Given the description of an element on the screen output the (x, y) to click on. 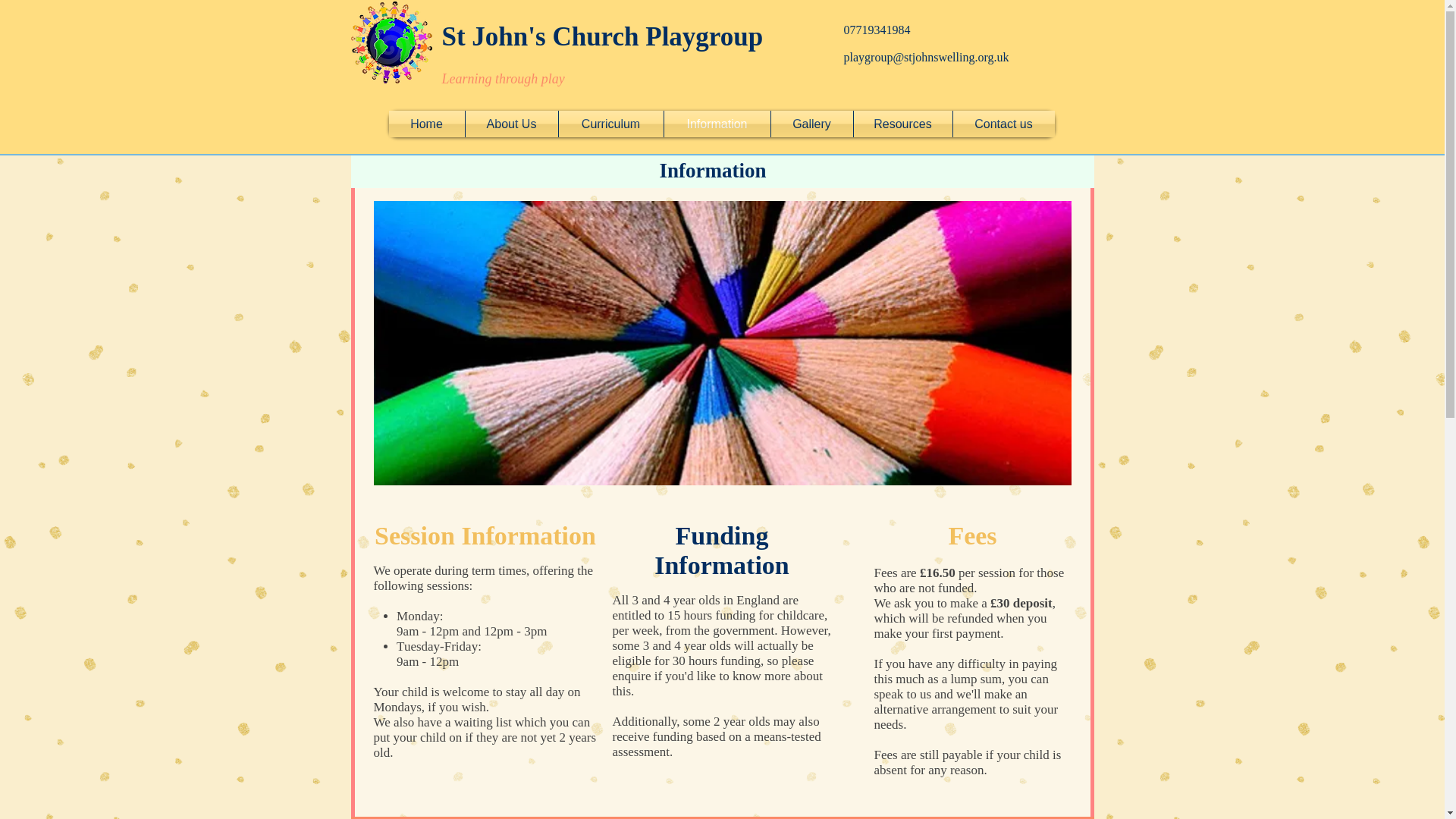
About Us (511, 123)
Resources (902, 123)
Home (426, 123)
Curriculum (609, 123)
07719341984  (877, 29)
Information (716, 123)
Gallery (810, 123)
Contact us (1003, 123)
